Given the description of an element on the screen output the (x, y) to click on. 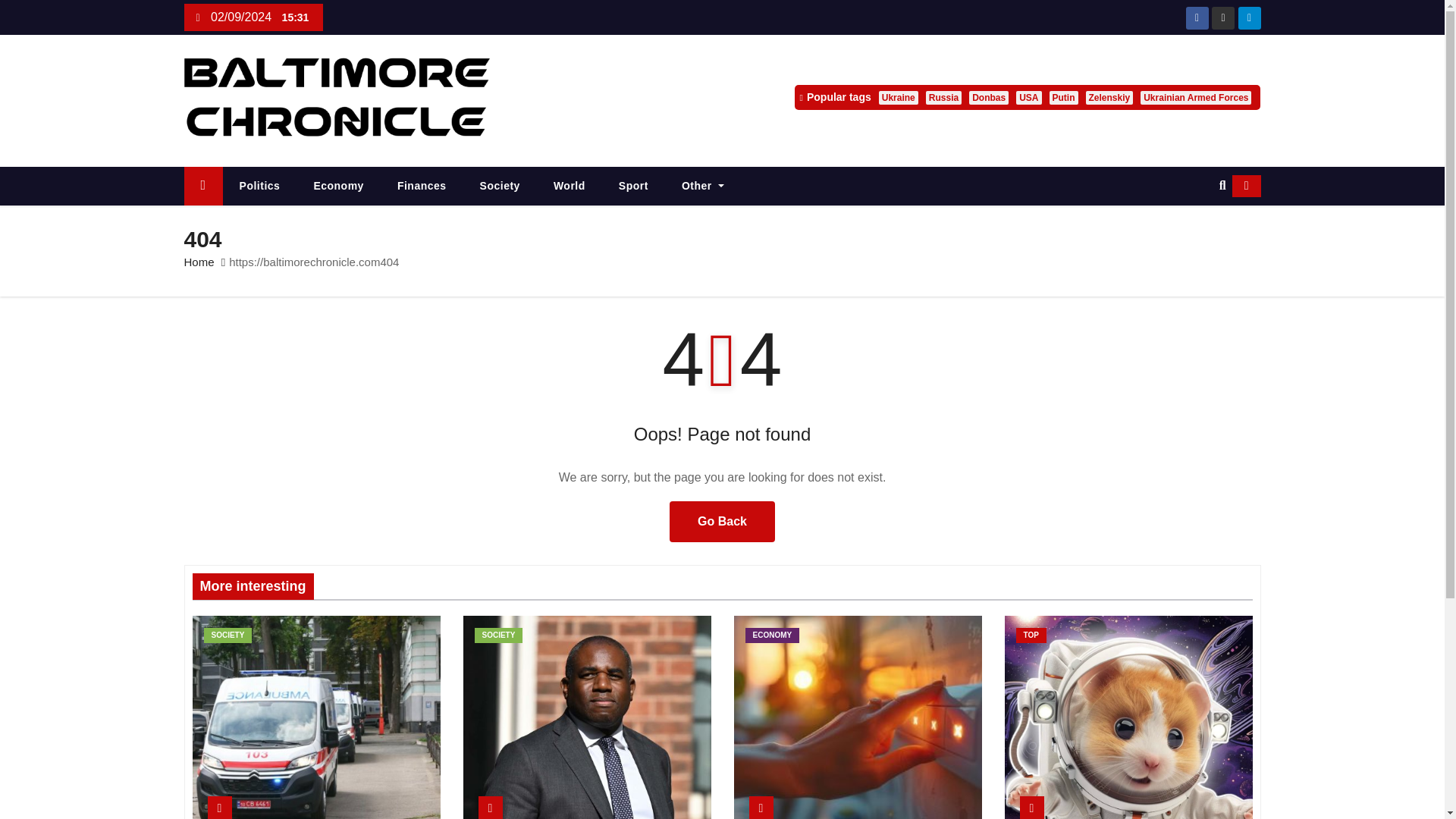
World (569, 186)
Ukrainian Armed Forces (1195, 97)
USA (1028, 97)
Putin (1063, 97)
Donbas (989, 97)
Sport (633, 186)
Politics (259, 186)
Society (500, 186)
Economy (338, 186)
Finances (421, 186)
